Given the description of an element on the screen output the (x, y) to click on. 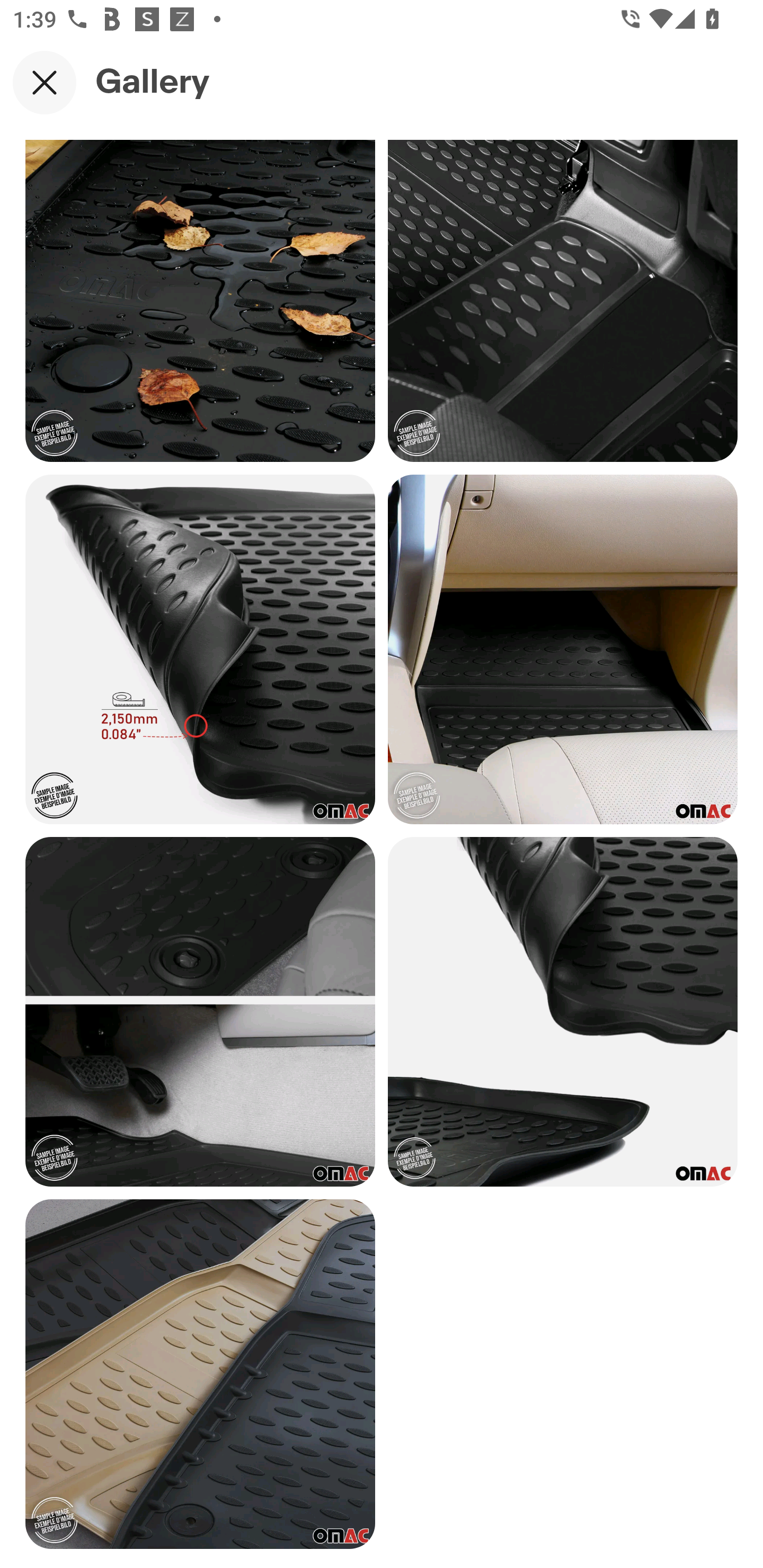
Close (44, 82)
Item image 7 of 13 (200, 300)
Item image 8 of 13 (562, 300)
Item image 9 of 13 (200, 649)
Item image 10 of 13 (562, 649)
Item image 11 of 13 (200, 1011)
Item image 12 of 13 (562, 1011)
Item image 13 of 13 (200, 1374)
